Given the description of an element on the screen output the (x, y) to click on. 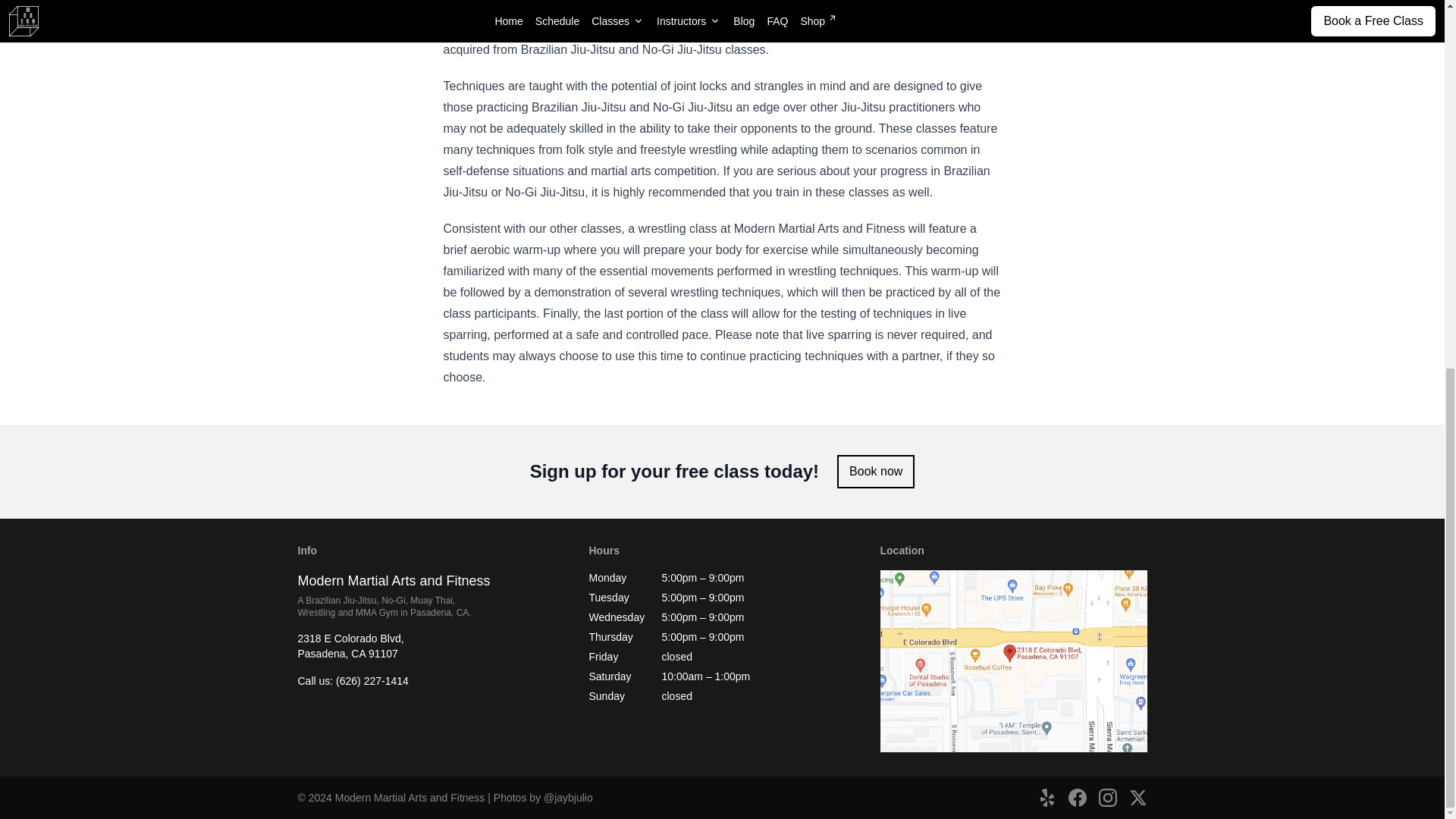
Modern Martial Arts and Fitness on Instagram (1106, 797)
Modern Martial Arts and Fitness on Twitter (350, 646)
Book now (1137, 797)
Modern Martial Arts and Fitness on Facebook (875, 471)
Modern Martial Arts and Fitness on Yelp (1076, 797)
